Given the description of an element on the screen output the (x, y) to click on. 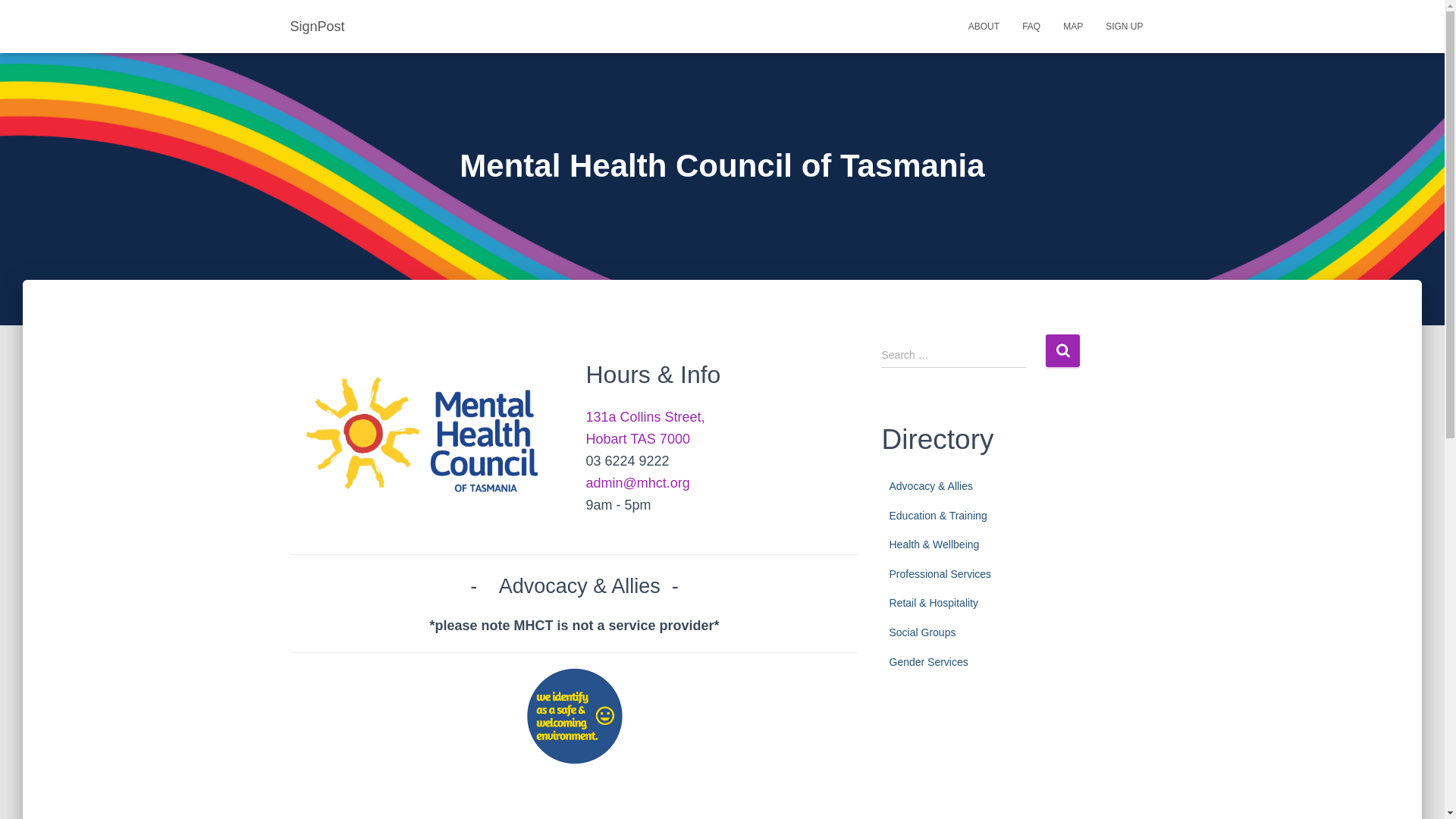
Search (1062, 350)
Search (1062, 350)
Sign Up (1124, 26)
About (983, 26)
Gender Services (928, 662)
FAQ (1030, 26)
FAQ (1030, 26)
SignPost (317, 26)
SignPost (317, 26)
SIGN UP (1124, 26)
